Given the description of an element on the screen output the (x, y) to click on. 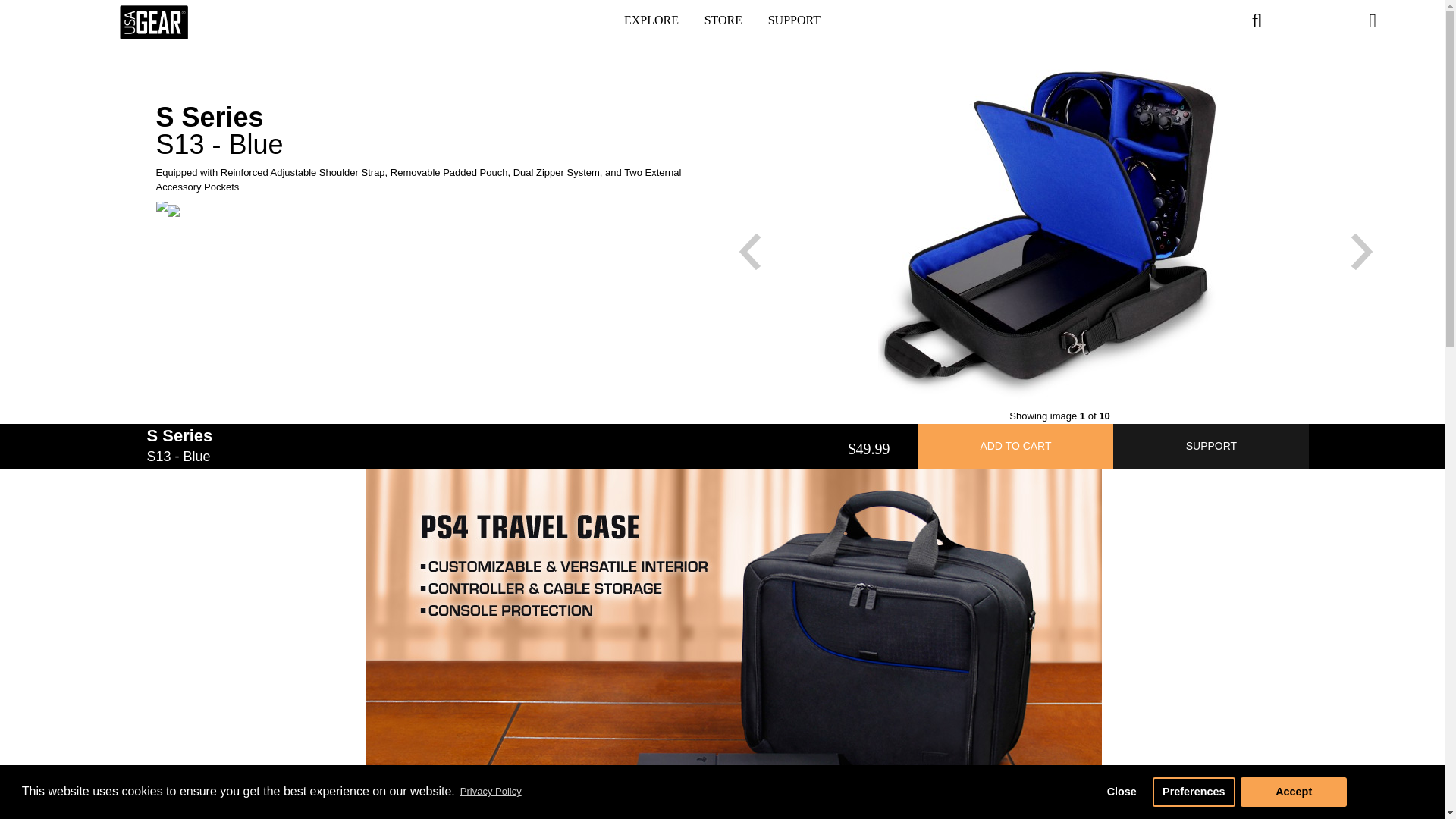
Close (1121, 791)
Accept (1293, 791)
Preferences (1193, 791)
Privacy Policy (490, 792)
USA Gear (153, 21)
STORE (723, 22)
EXPLORE (651, 22)
